Given the description of an element on the screen output the (x, y) to click on. 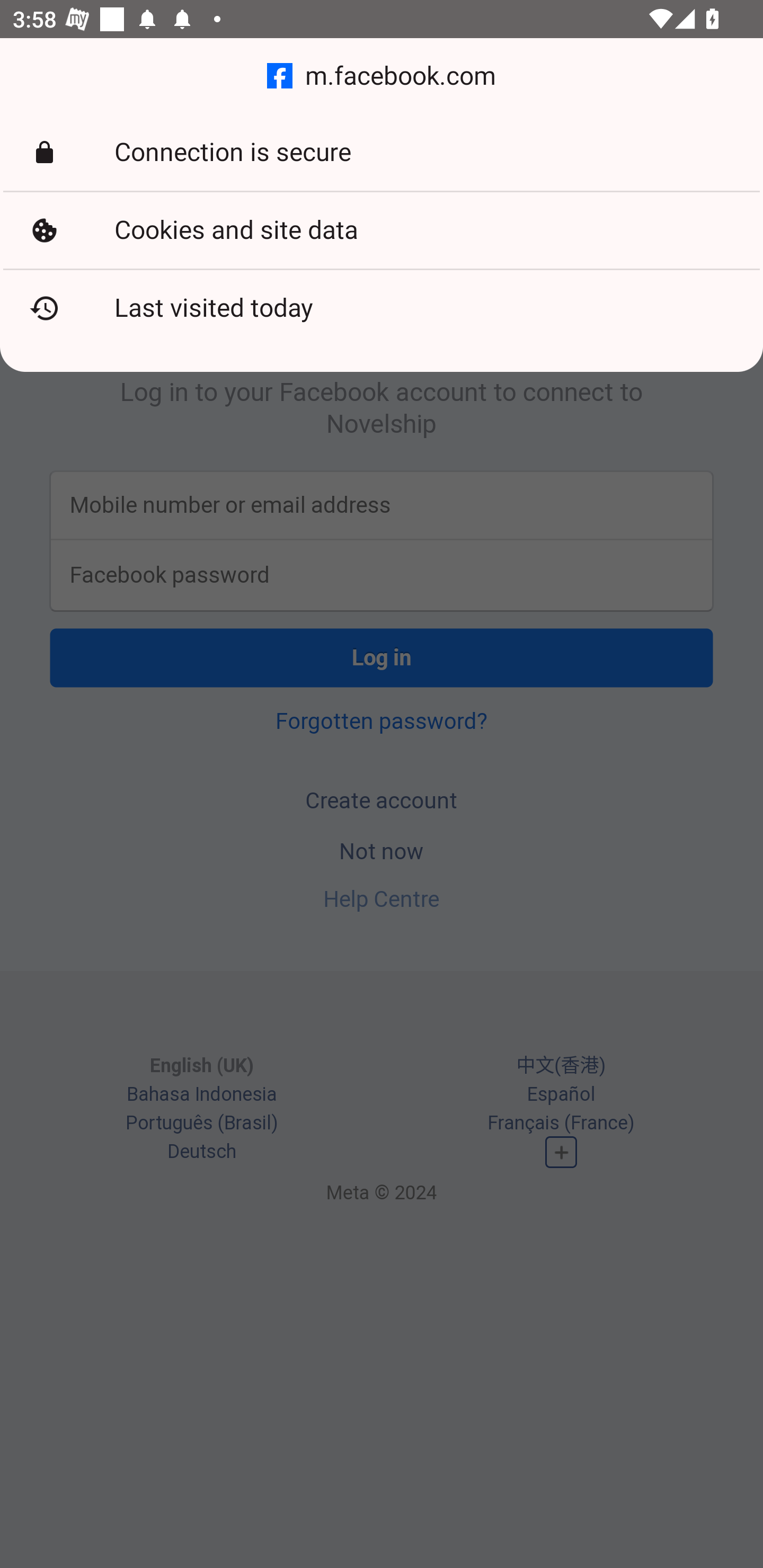
m.facebook.com (381, 75)
Connection is secure (381, 152)
Cookies and site data (381, 230)
Last visited today (381, 307)
